Given the description of an element on the screen output the (x, y) to click on. 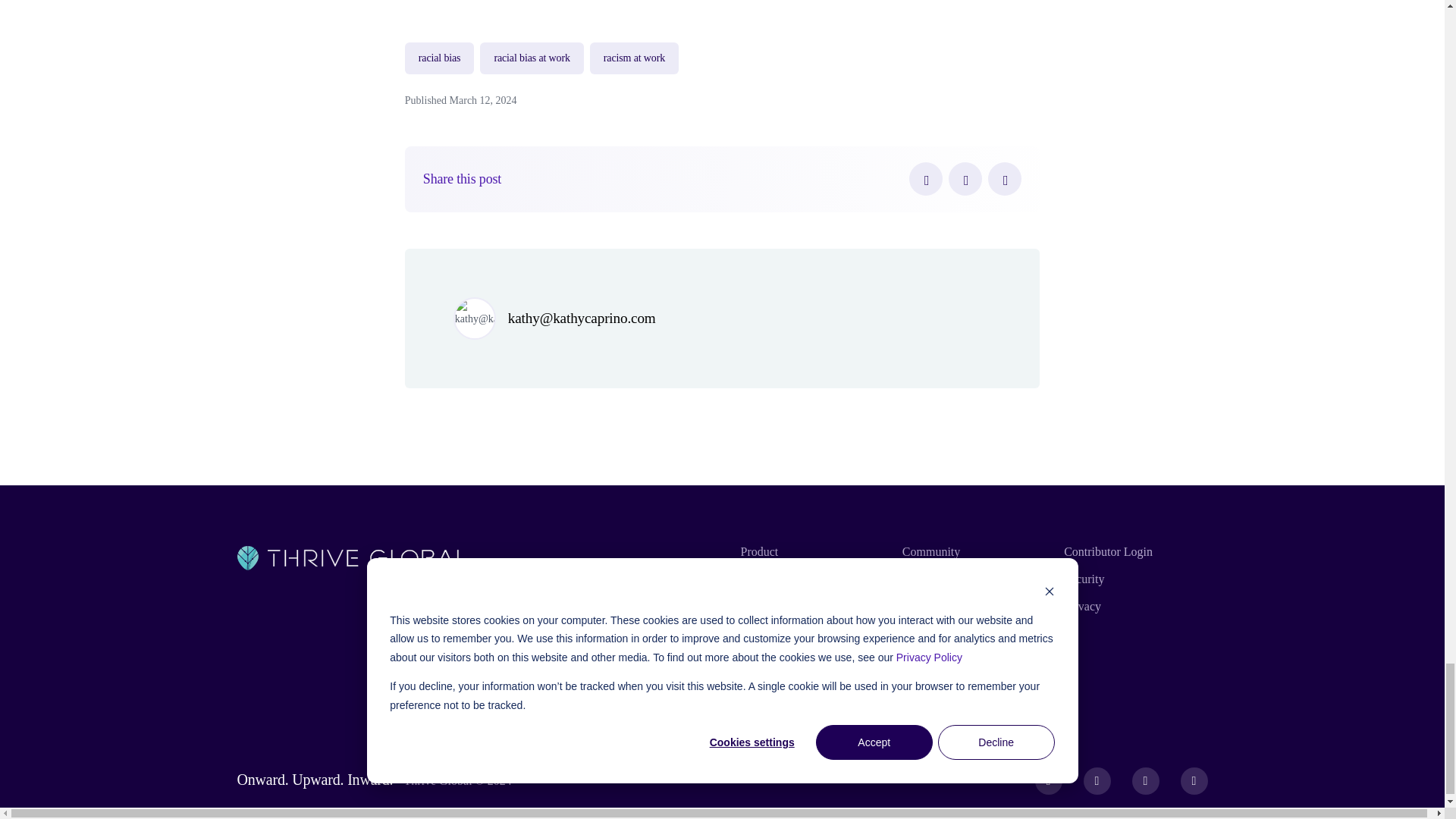
Twitter (965, 178)
Facebook (925, 178)
LinkedIn (1005, 178)
